Given the description of an element on the screen output the (x, y) to click on. 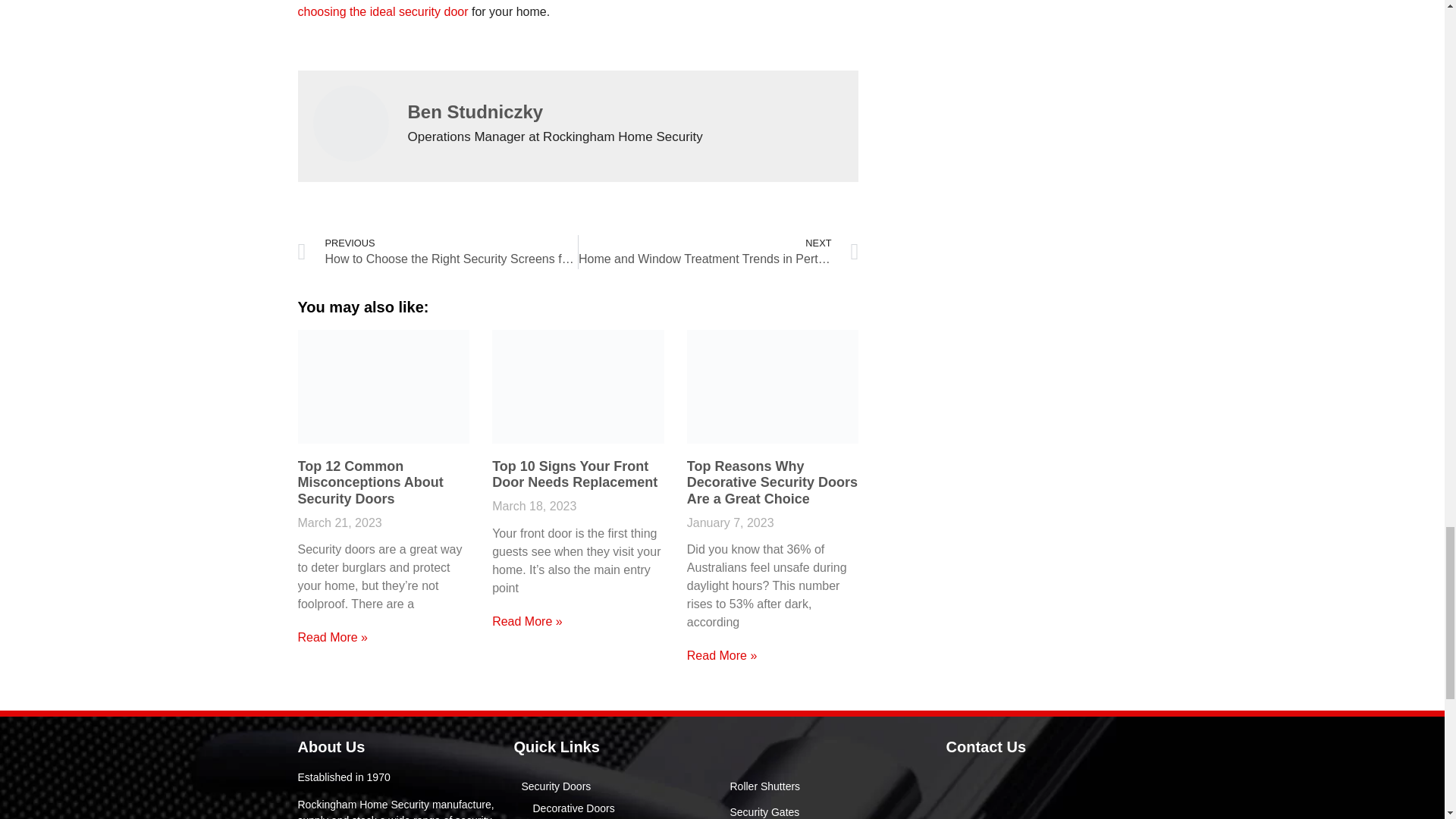
Rockingham Home Security (1046, 794)
